Given the description of an element on the screen output the (x, y) to click on. 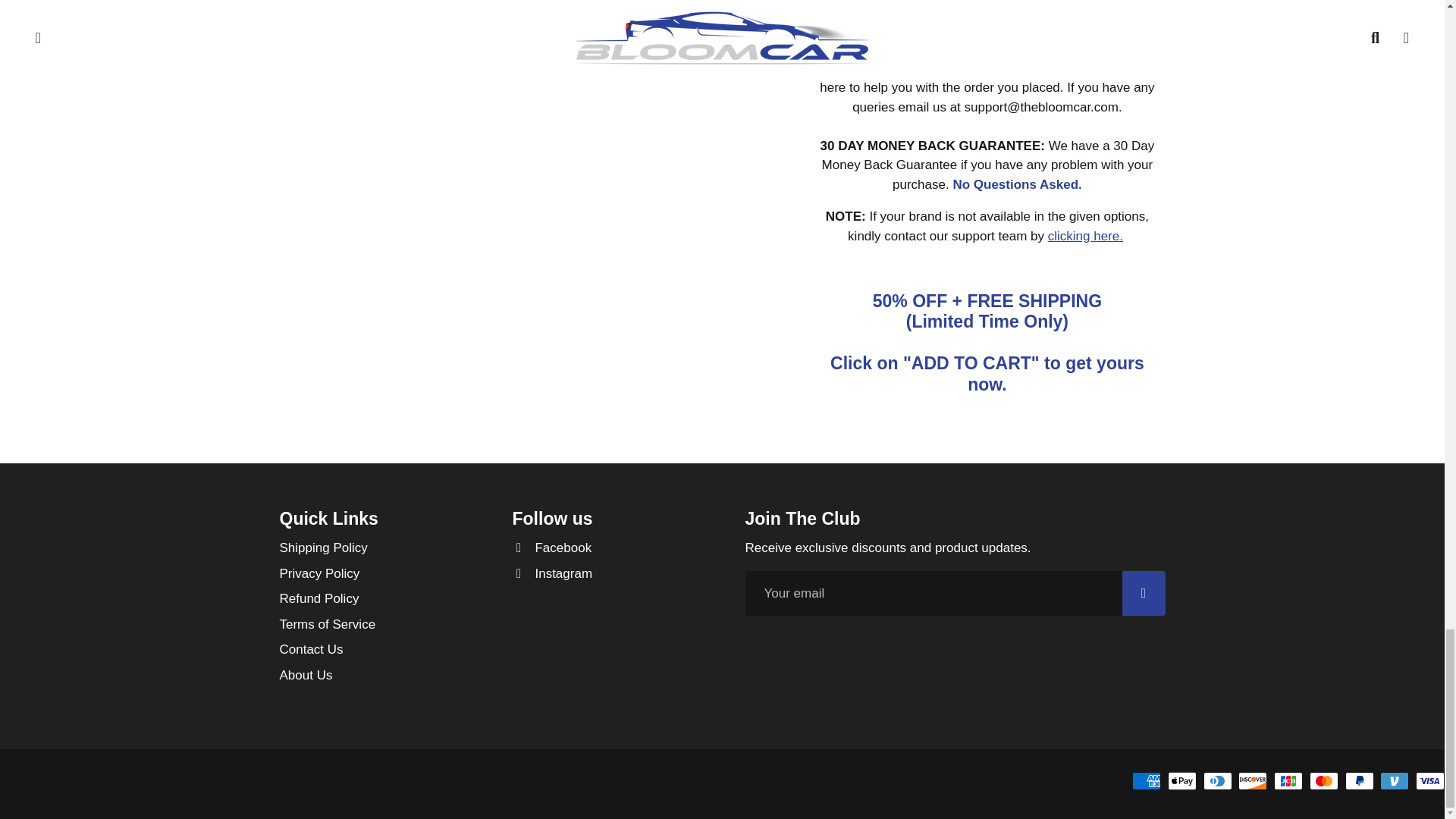
PayPal (1359, 781)
Discover (1252, 781)
American Express (1146, 781)
Apple Pay (1181, 781)
Diners Club (1217, 781)
Venmo (1394, 781)
JCB (1288, 781)
Mastercard (1323, 781)
